Given the description of an element on the screen output the (x, y) to click on. 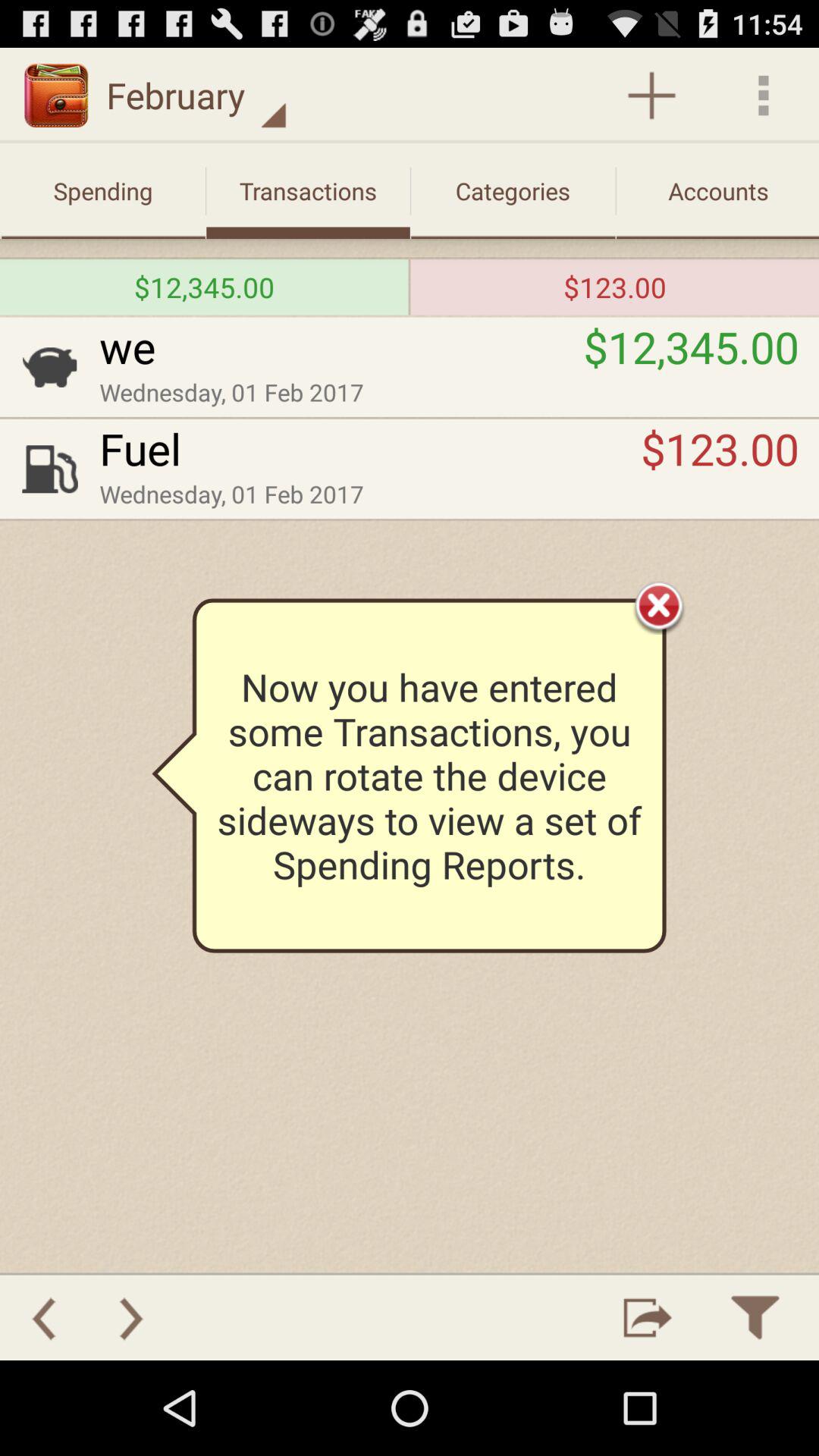
click the item next to $123.00 icon (369, 448)
